Given the description of an element on the screen output the (x, y) to click on. 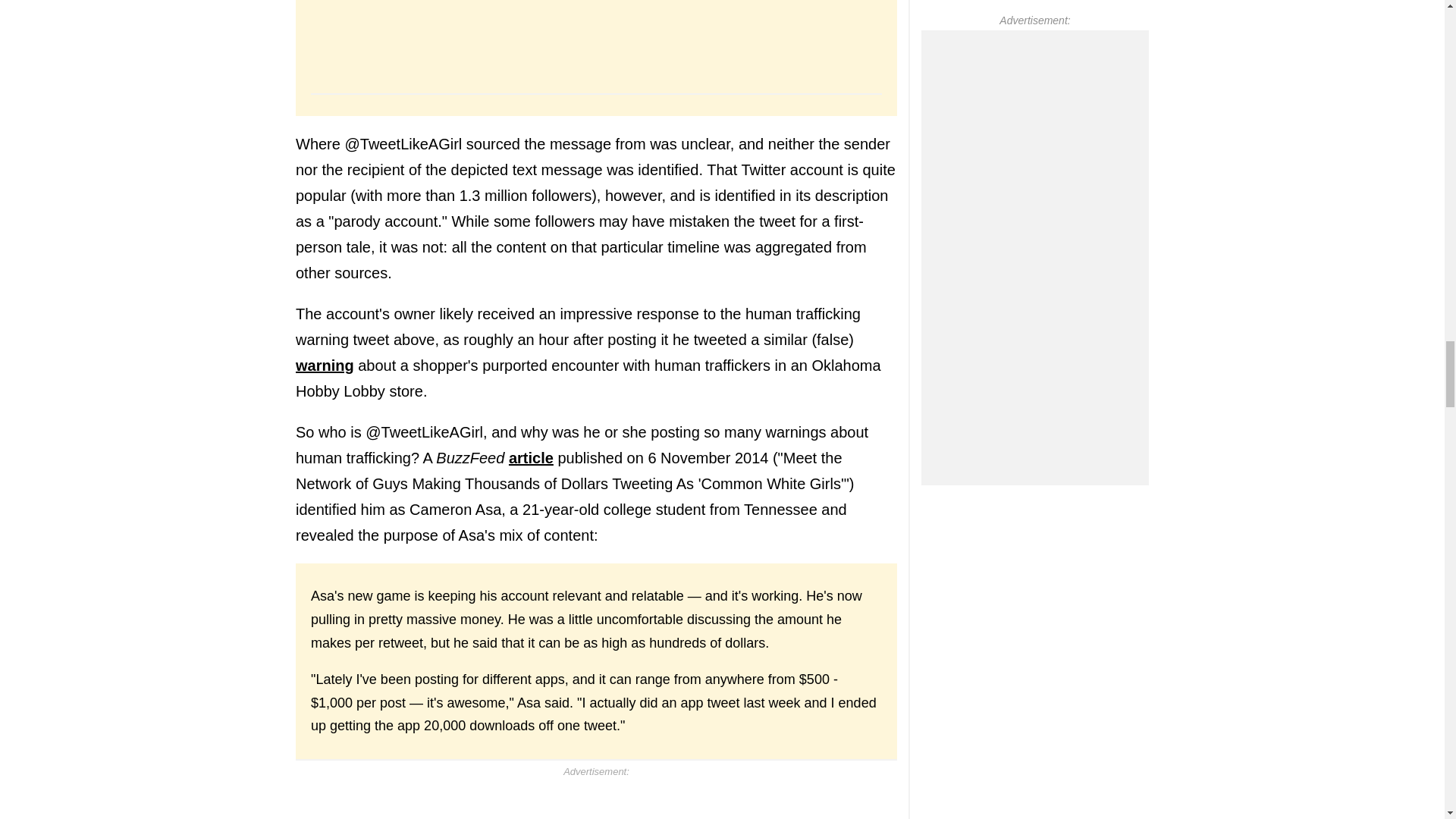
warning (324, 365)
